Given the description of an element on the screen output the (x, y) to click on. 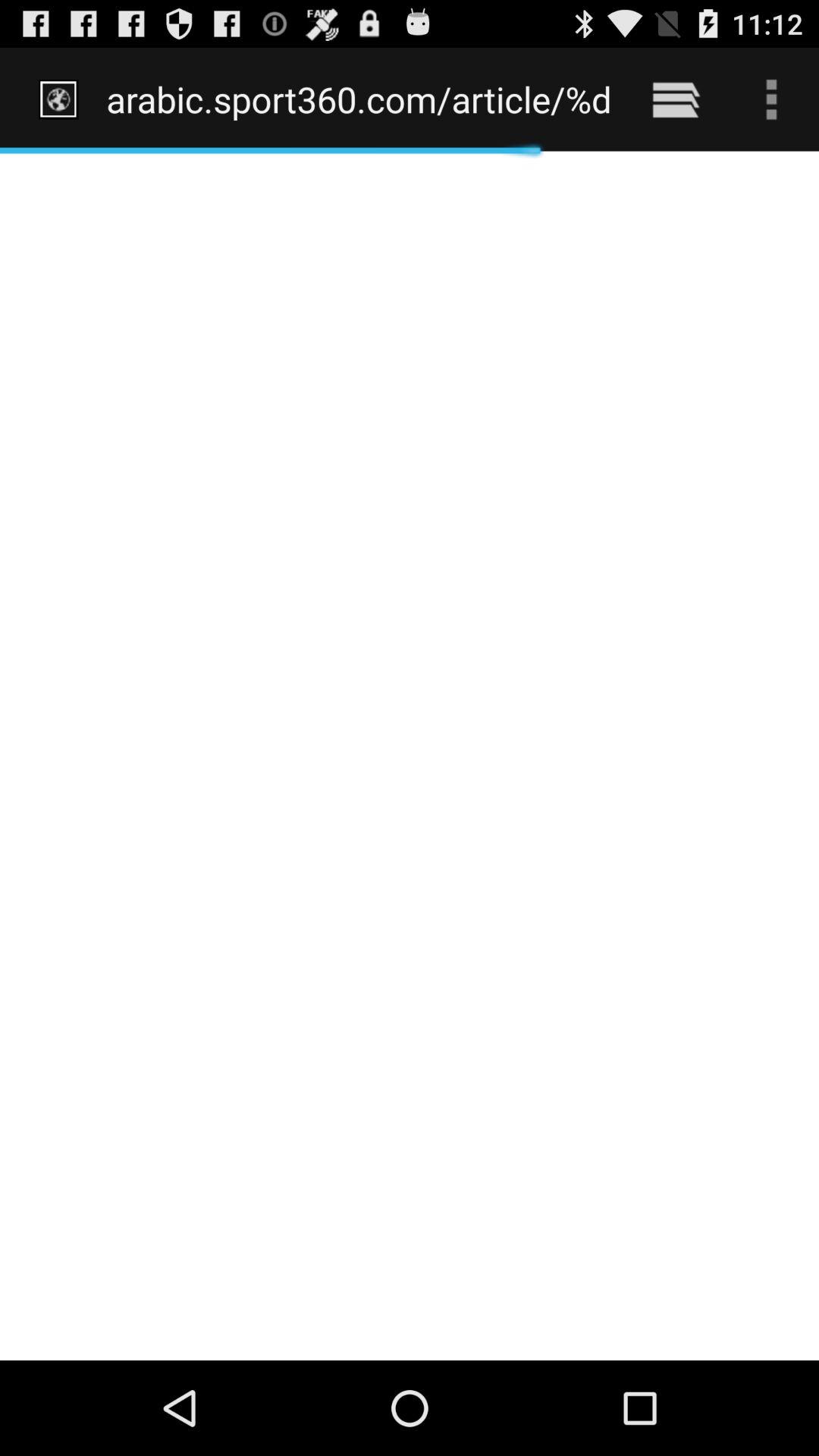
choose item next to arabic sport360 com icon (675, 99)
